Given the description of an element on the screen output the (x, y) to click on. 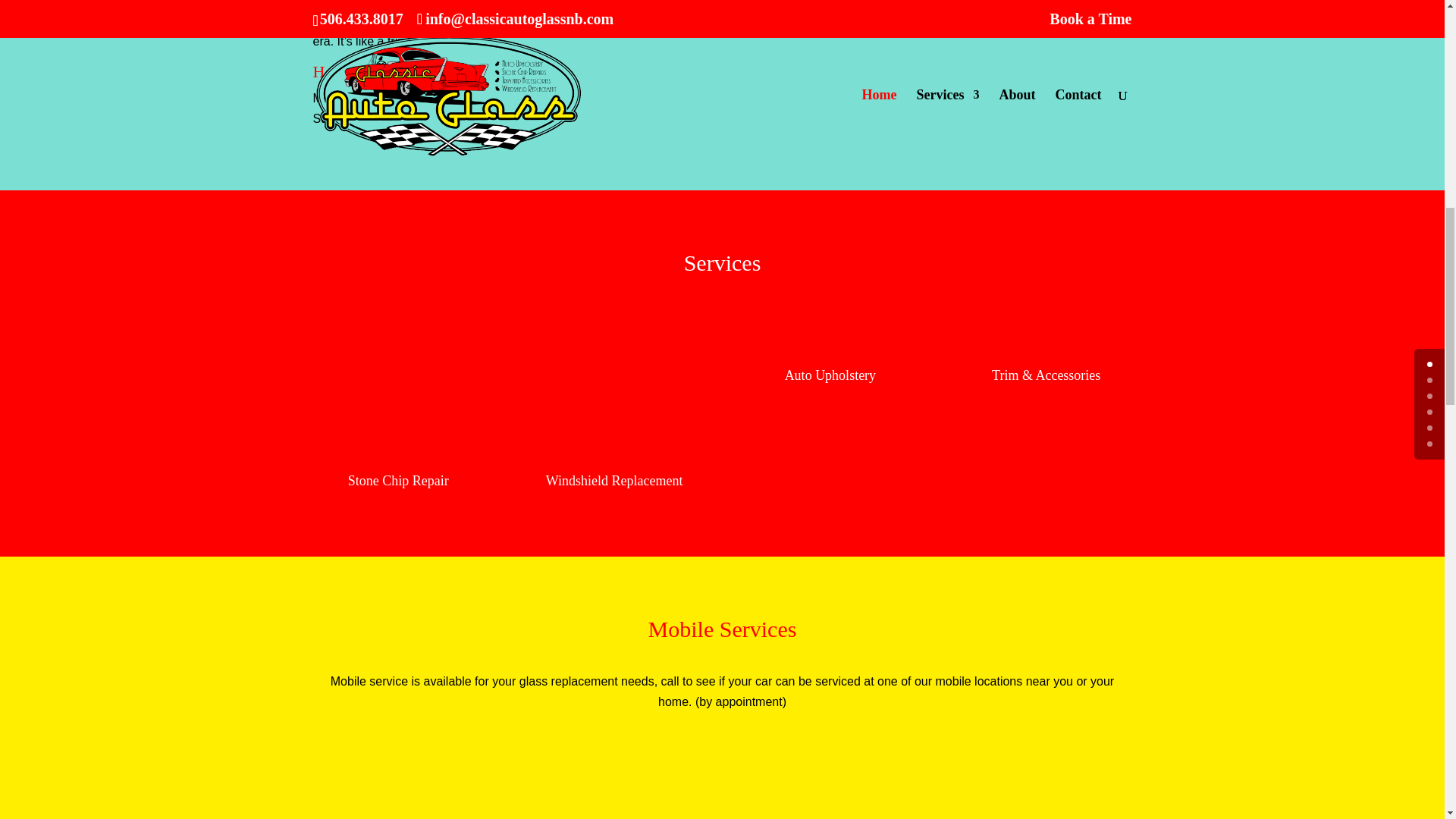
Auto Upholstery (830, 375)
Stone Chip Repair (397, 480)
Windshield Replacement (614, 480)
